Given the description of an element on the screen output the (x, y) to click on. 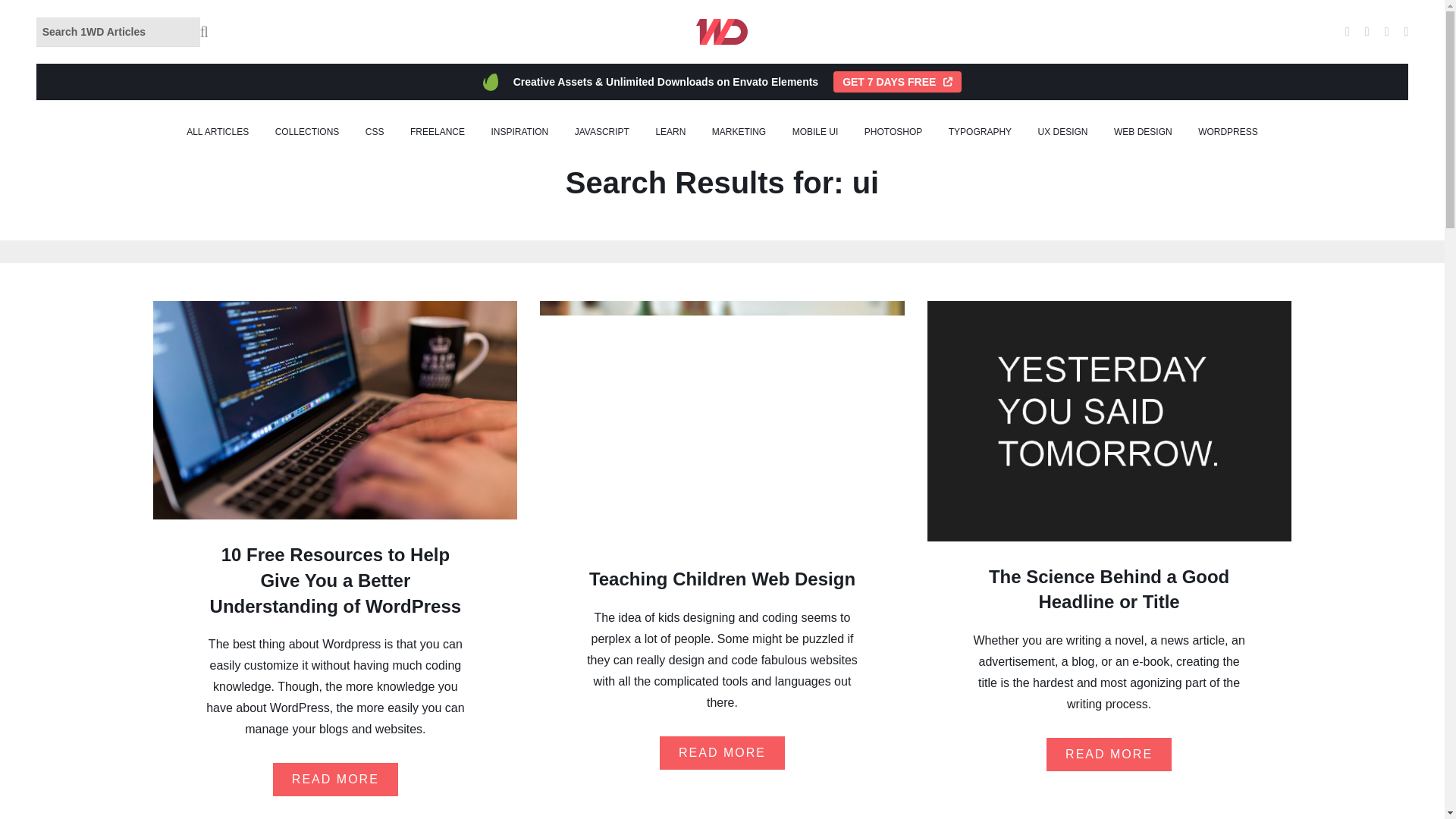
PHOTOSHOP (892, 131)
GET 7 DAYS FREE (896, 81)
JAVASCRIPT (601, 131)
WEB DESIGN (1142, 131)
MOBILE UI (815, 131)
WORDPRESS (1227, 131)
The Science Behind a Good Headline or Title (1108, 589)
INSPIRATION (519, 131)
CSS (374, 131)
